Given the description of an element on the screen output the (x, y) to click on. 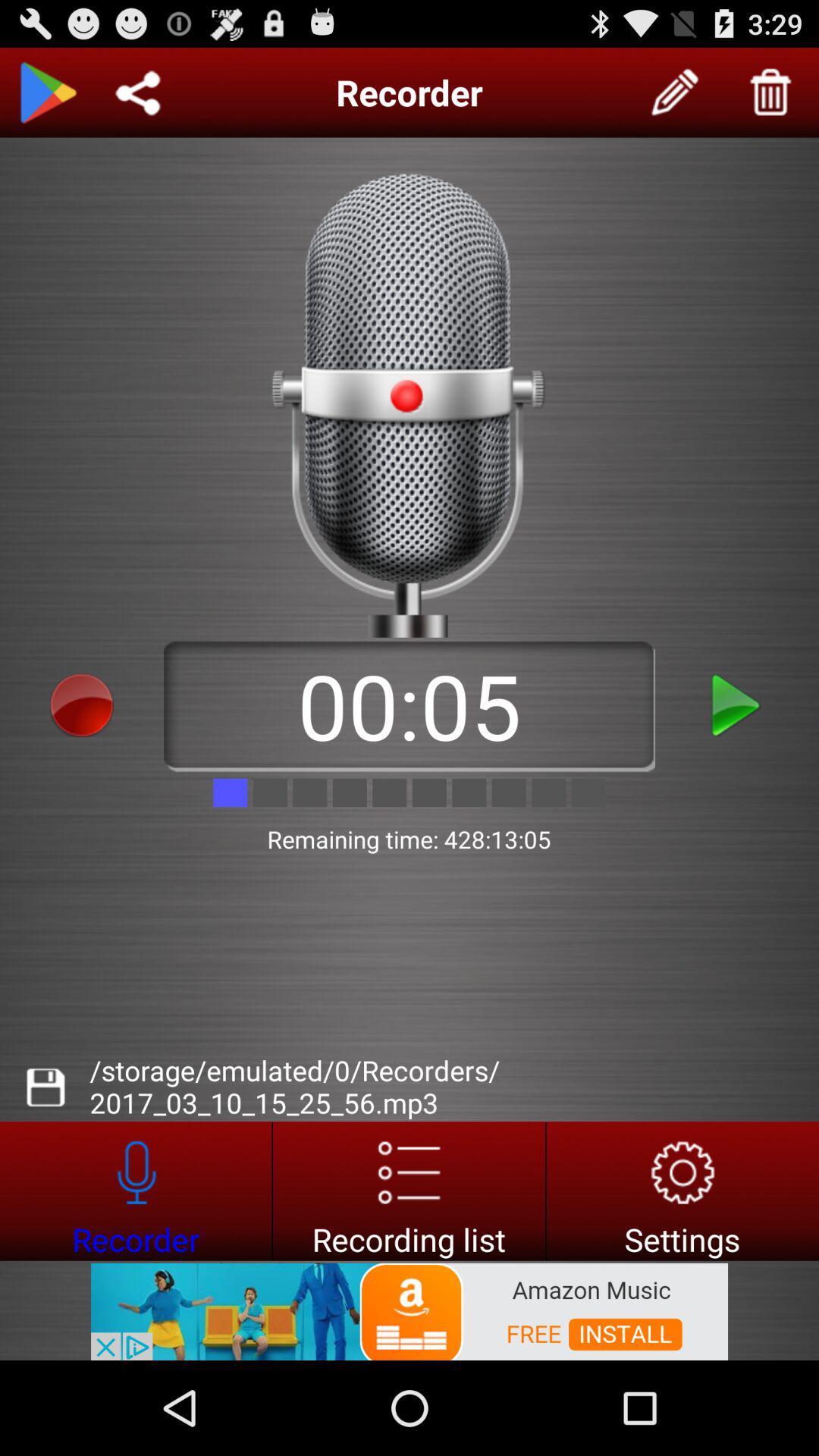
place in trash (771, 92)
